Given the description of an element on the screen output the (x, y) to click on. 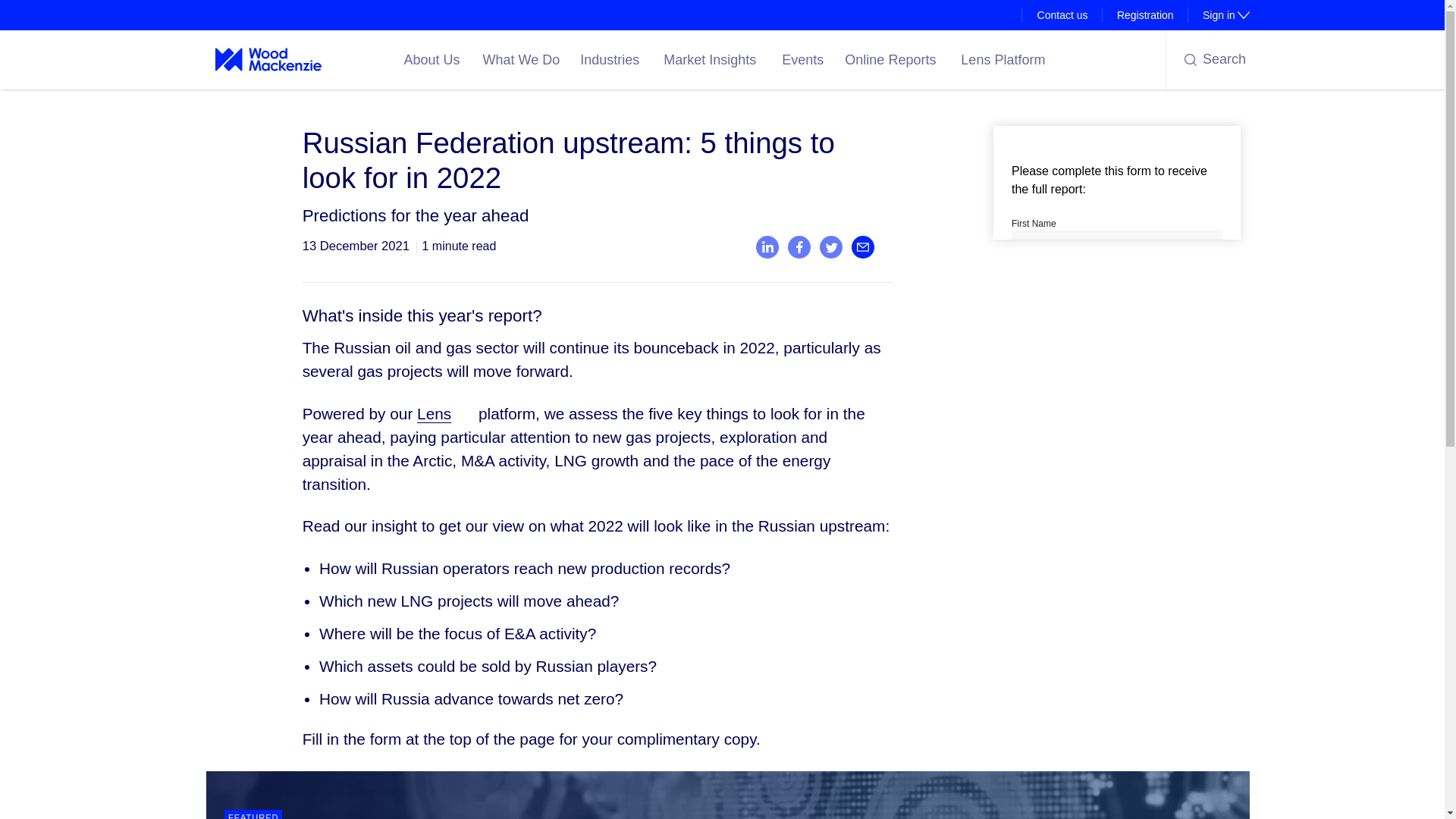
Registration (1145, 15)
What We Do (1218, 15)
Contact us (522, 59)
About Us (1062, 15)
